Given the description of an element on the screen output the (x, y) to click on. 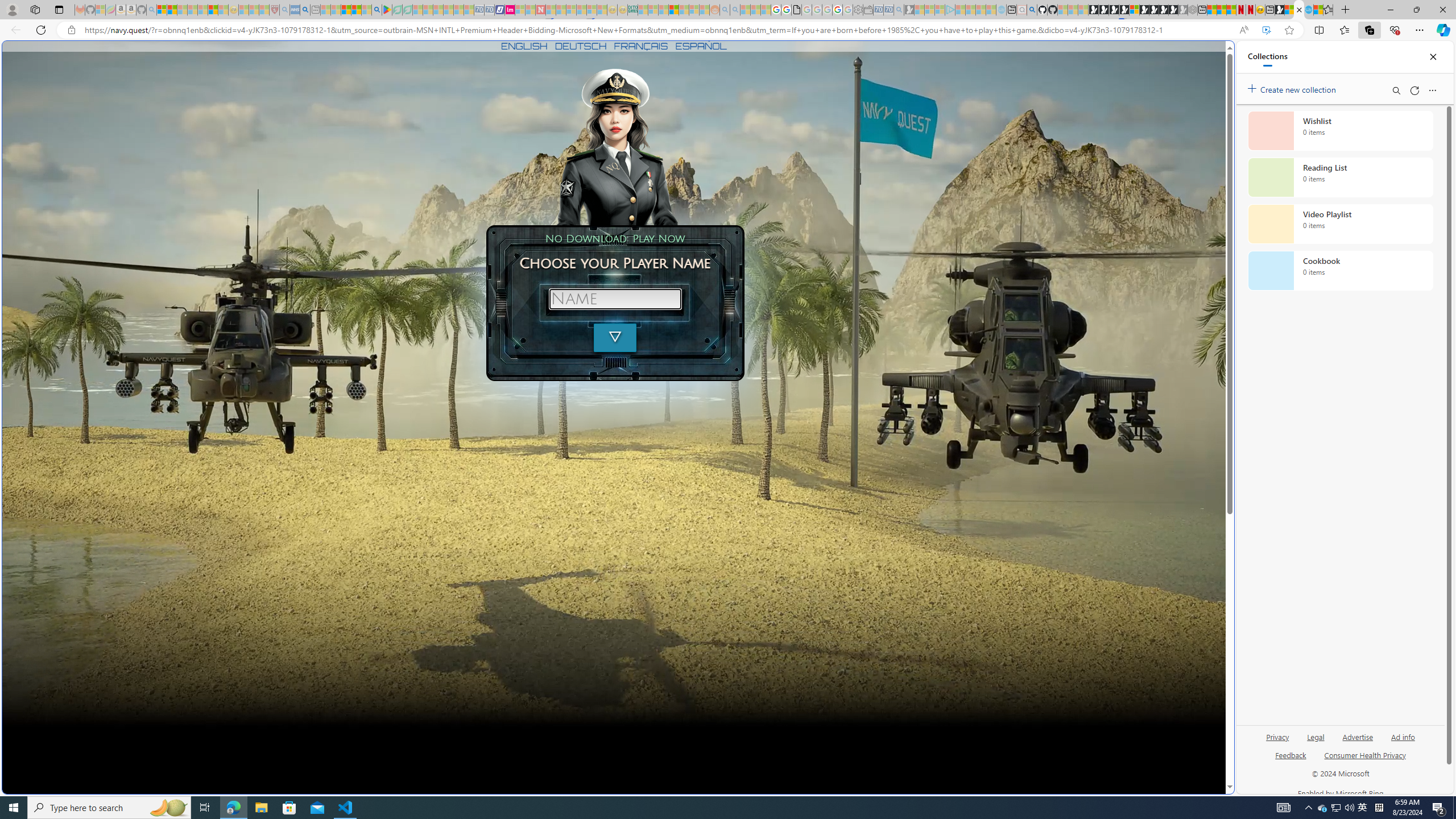
Expert Portfolios (673, 9)
Reading List collection, 0 items (1339, 177)
